Given the description of an element on the screen output the (x, y) to click on. 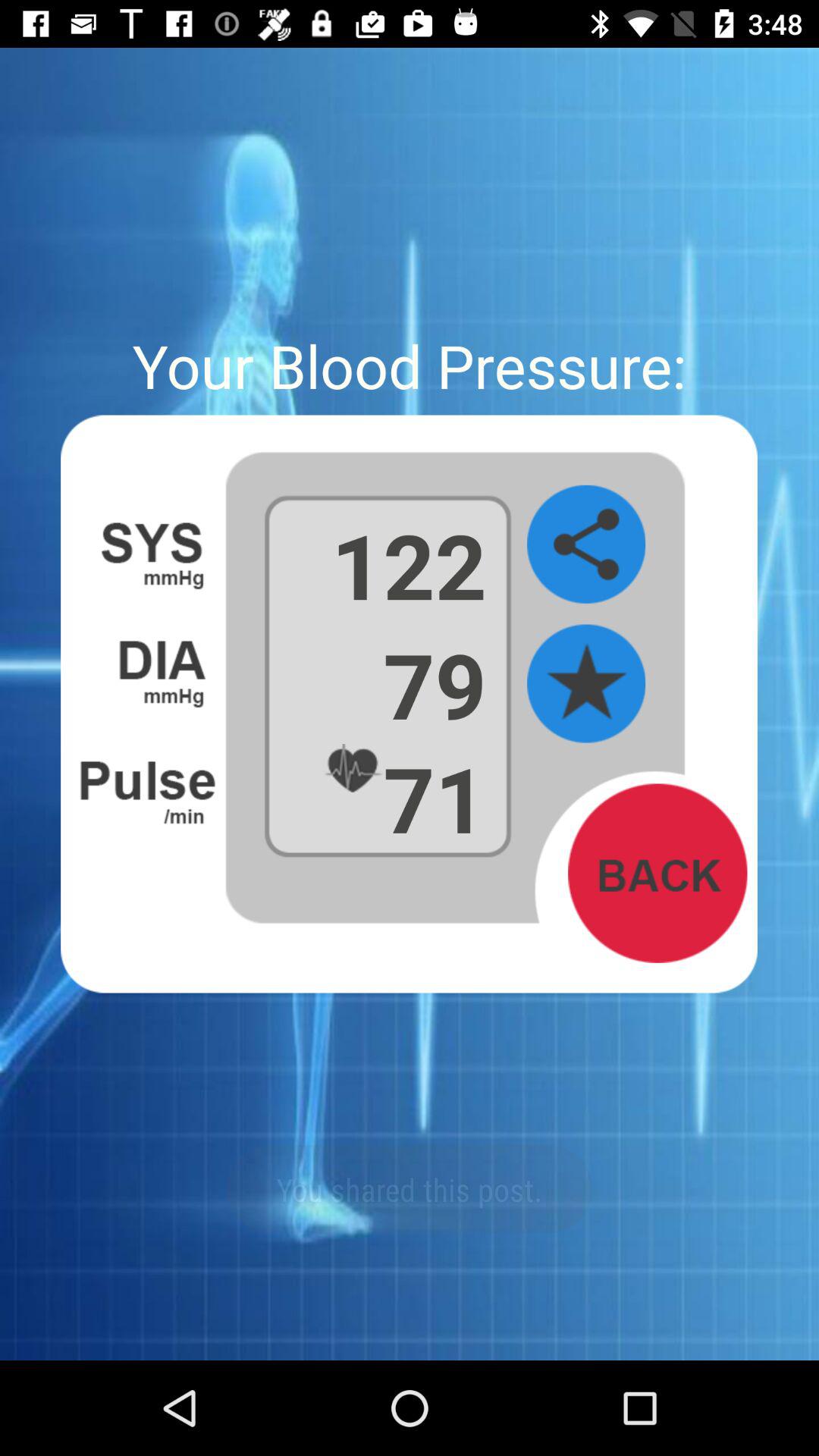
share blood pressure information (586, 544)
